Given the description of an element on the screen output the (x, y) to click on. 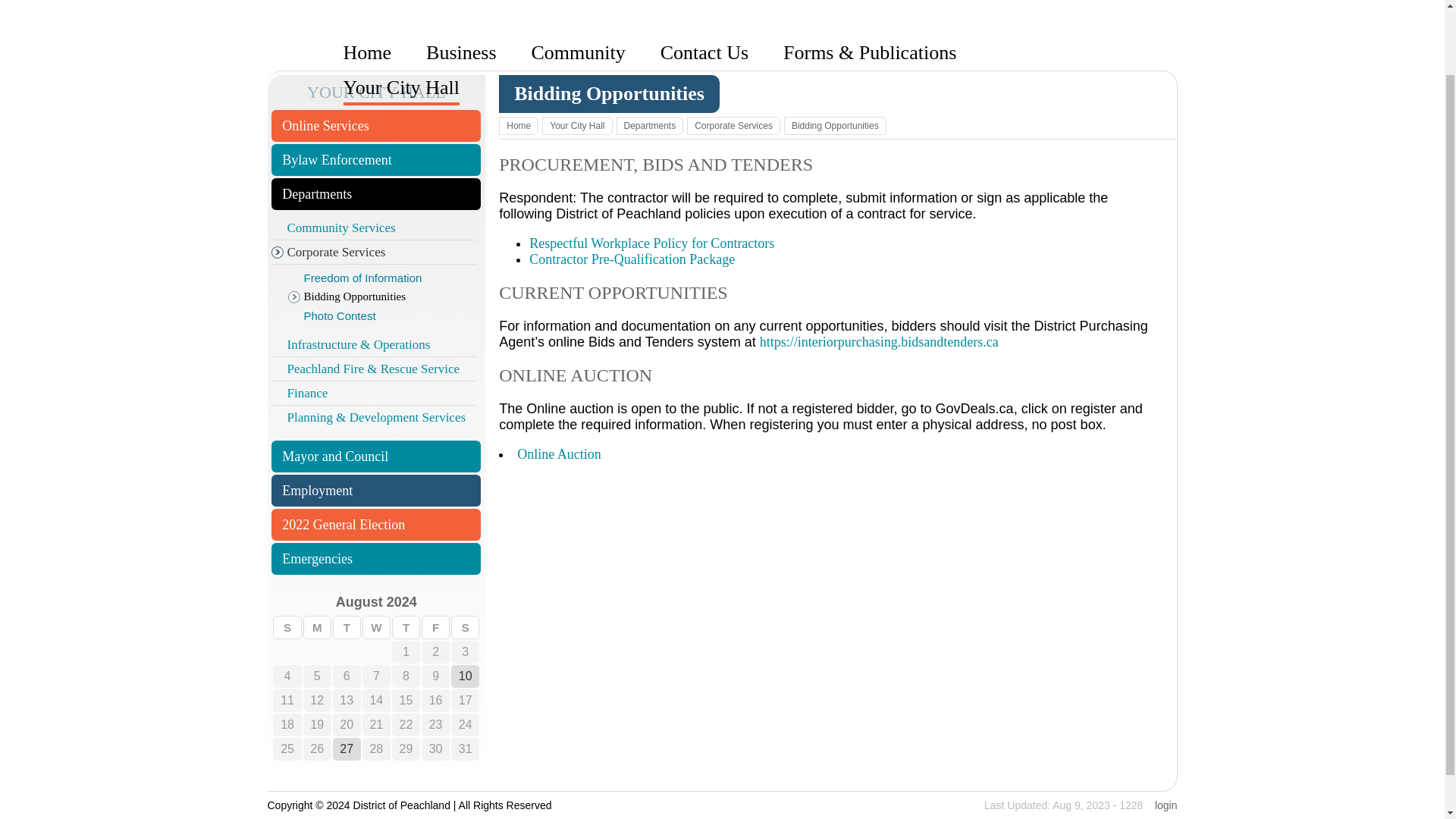
Next Month (452, 602)
Return To Home (723, 26)
Home (366, 53)
View events for month (376, 601)
Previous Month (298, 602)
the District of Peachland (723, 15)
Business (461, 53)
